Given the description of an element on the screen output the (x, y) to click on. 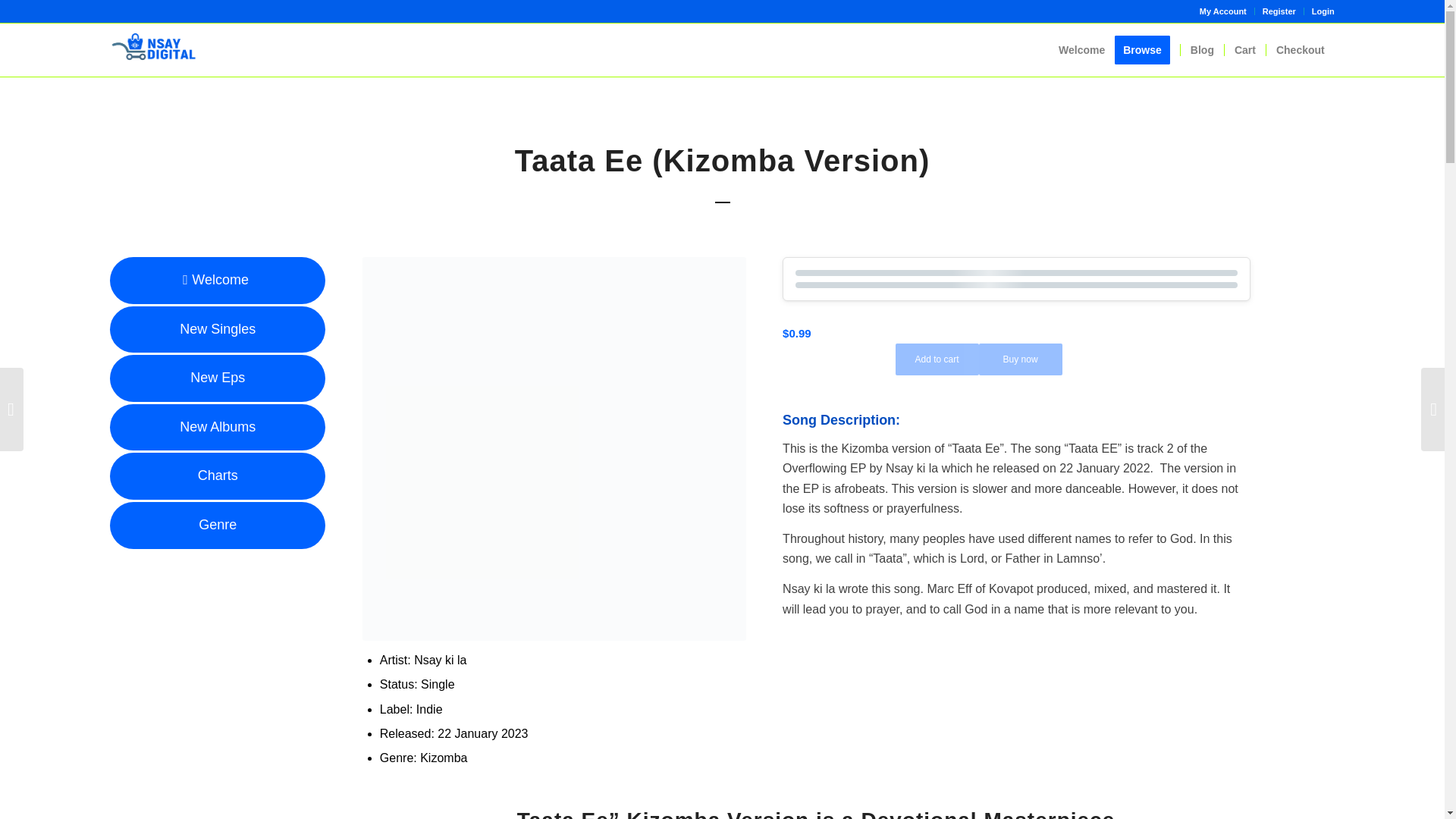
Checkout (1300, 49)
Welcome (1081, 49)
Login (1323, 11)
My Account (1222, 11)
Register (1278, 11)
Browse (1147, 49)
